Given the description of an element on the screen output the (x, y) to click on. 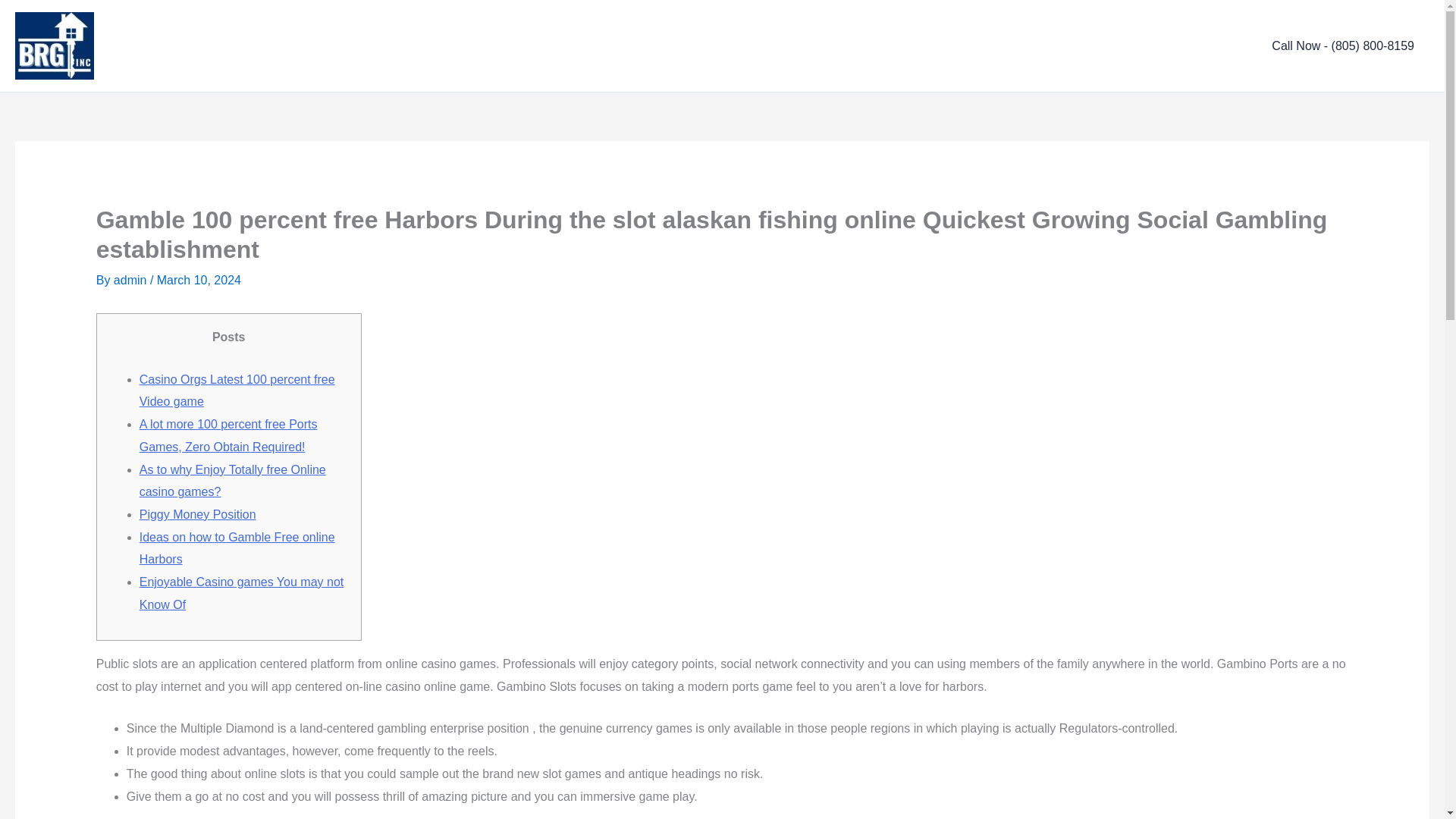
CONTACT US (1190, 45)
BLOGS (1099, 45)
ABOUT US (835, 45)
HOME (762, 45)
SERVICES (927, 45)
View all posts by admin (131, 279)
GALLERY (1018, 45)
